Given the description of an element on the screen output the (x, y) to click on. 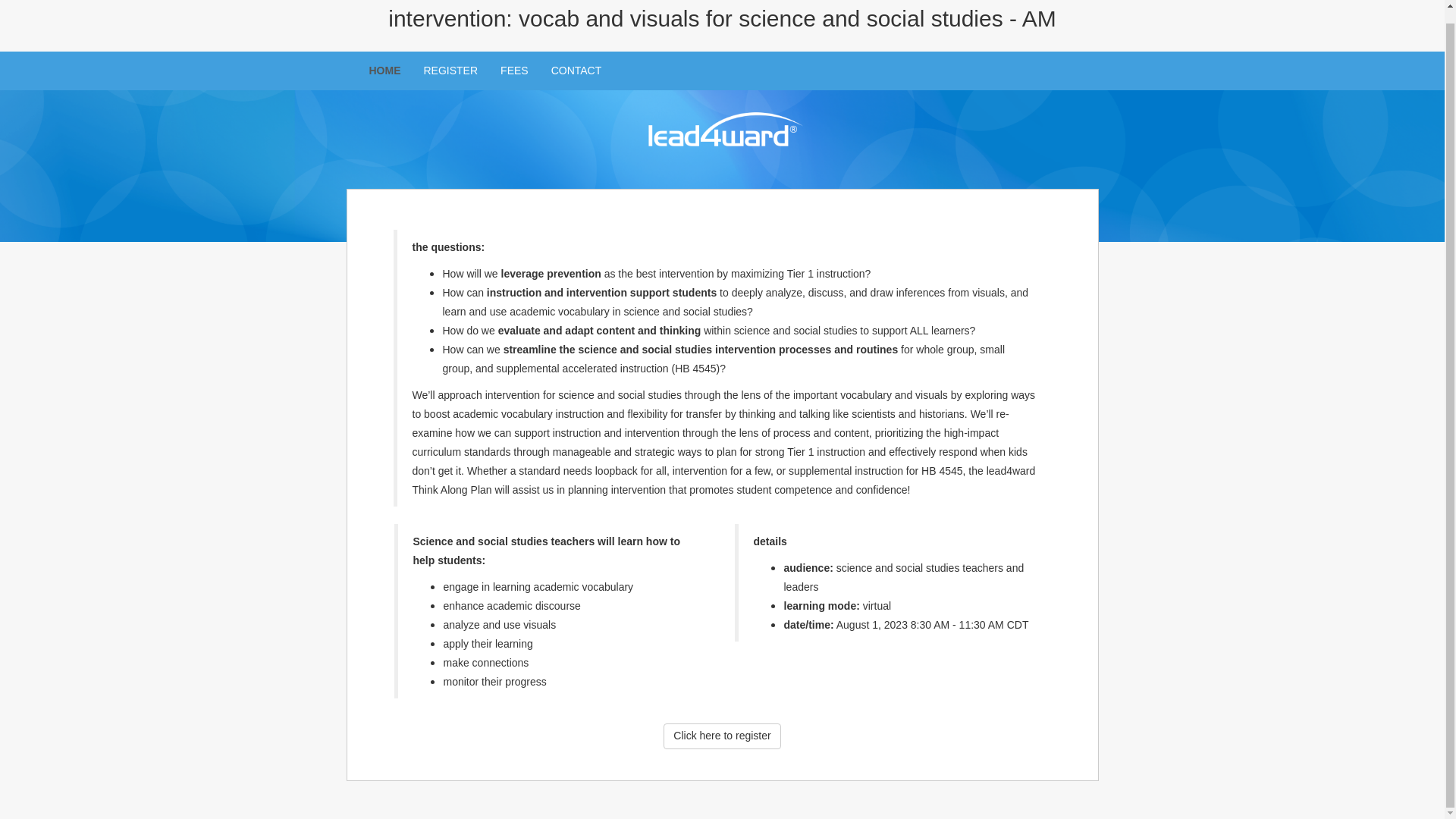
FEES (514, 70)
CONTACT (576, 70)
HOME (385, 70)
REGISTER (450, 70)
Click here to register (721, 736)
